Given the description of an element on the screen output the (x, y) to click on. 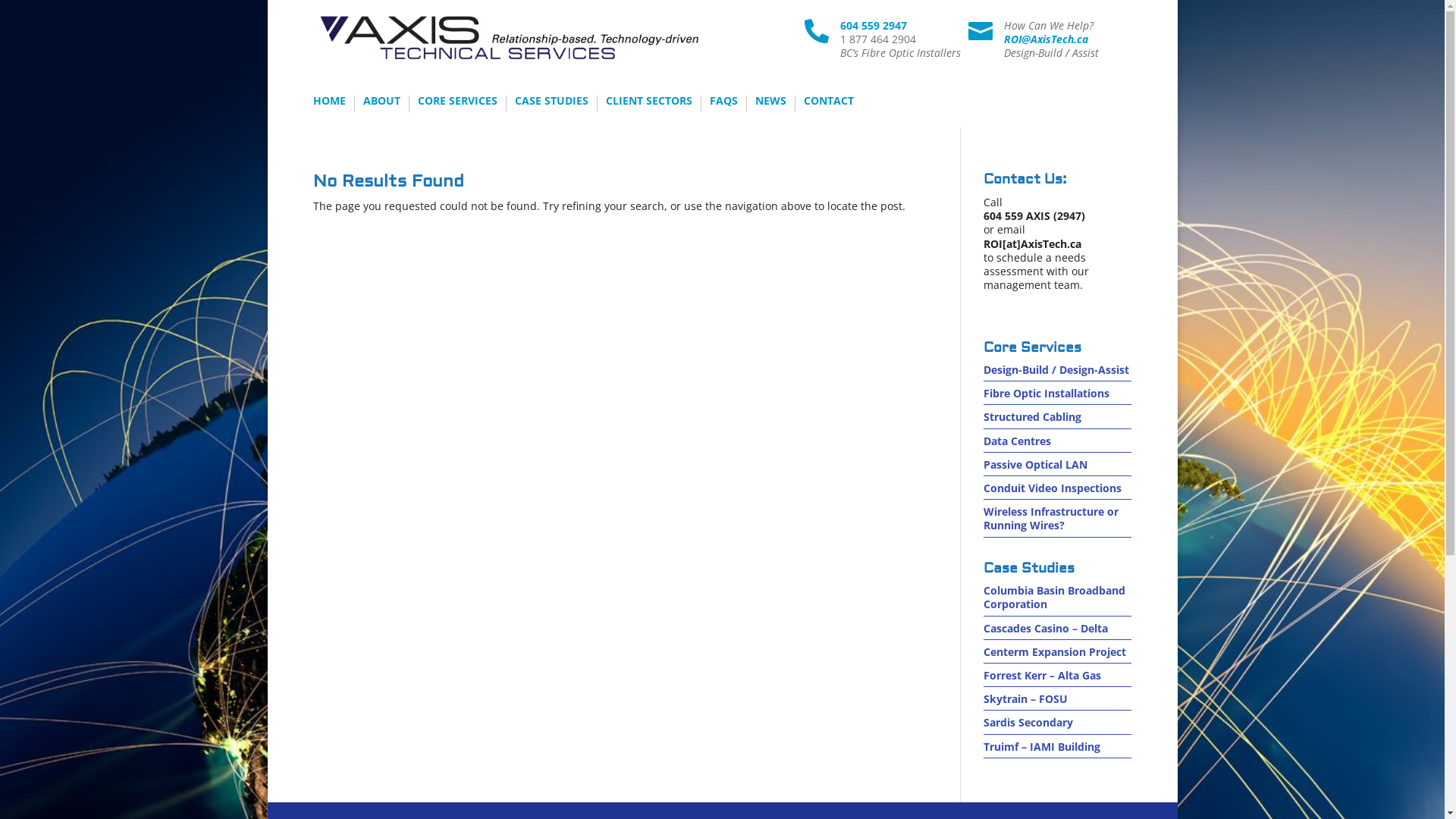
NEWS Element type: text (770, 103)
Search Element type: text (25, 14)
604 559 2947 Element type: text (873, 25)
Design-Build / Design-Assist Element type: text (1056, 369)
ROI@AxisTech.ca Element type: text (1046, 38)
HOME Element type: text (328, 103)
axis-tech-logo-002 Element type: hover (508, 37)
Centerm Expansion Project Element type: text (1054, 651)
ABOUT Element type: text (380, 103)
CONTACT Element type: text (828, 103)
CASE STUDIES Element type: text (550, 103)
Data Centres Element type: text (1017, 440)
Conduit Video Inspections Element type: text (1052, 487)
Fibre Optic Installations Element type: text (1046, 392)
CLIENT SECTORS Element type: text (648, 103)
CORE SERVICES Element type: text (456, 103)
Sardis Secondary Element type: text (1028, 722)
Wireless Infrastructure or Running Wires? Element type: text (1050, 518)
FAQS Element type: text (723, 103)
Structured Cabling Element type: text (1032, 416)
Columbia Basin Broadband Corporation Element type: text (1054, 597)
Passive Optical LAN Element type: text (1035, 464)
